Given the description of an element on the screen output the (x, y) to click on. 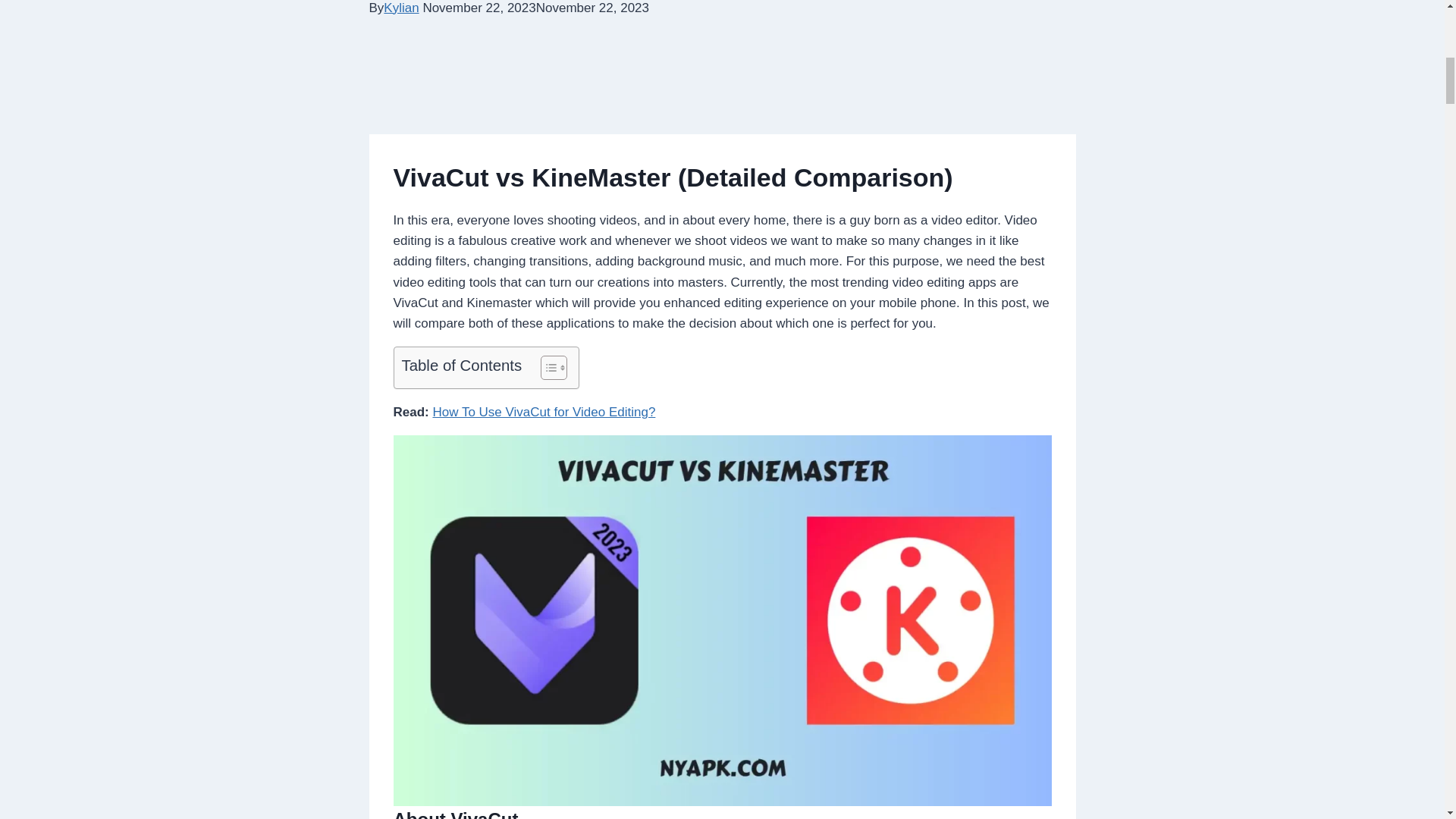
How To Use VivaCut for Video Editing? (543, 411)
Kylian (401, 7)
